Given the description of an element on the screen output the (x, y) to click on. 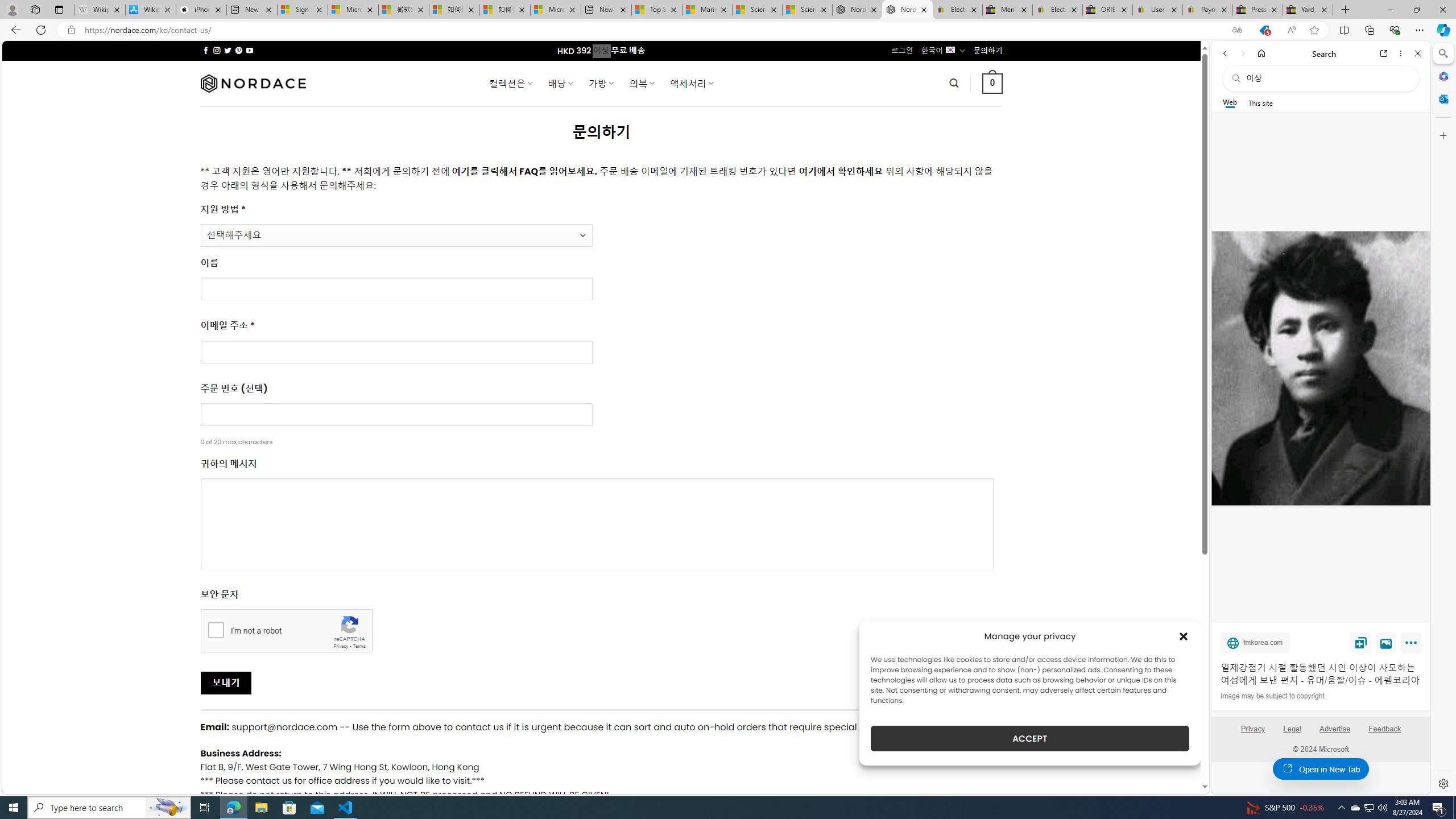
Follow on YouTube (249, 50)
Legal (1291, 728)
Open in New Tab (1321, 768)
Payments Terms of Use | eBay.com (1207, 9)
Microsoft account | Account Checkup (555, 9)
Follow on Pinterest (237, 50)
Top Stories - MSN (656, 9)
